Given the description of an element on the screen output the (x, y) to click on. 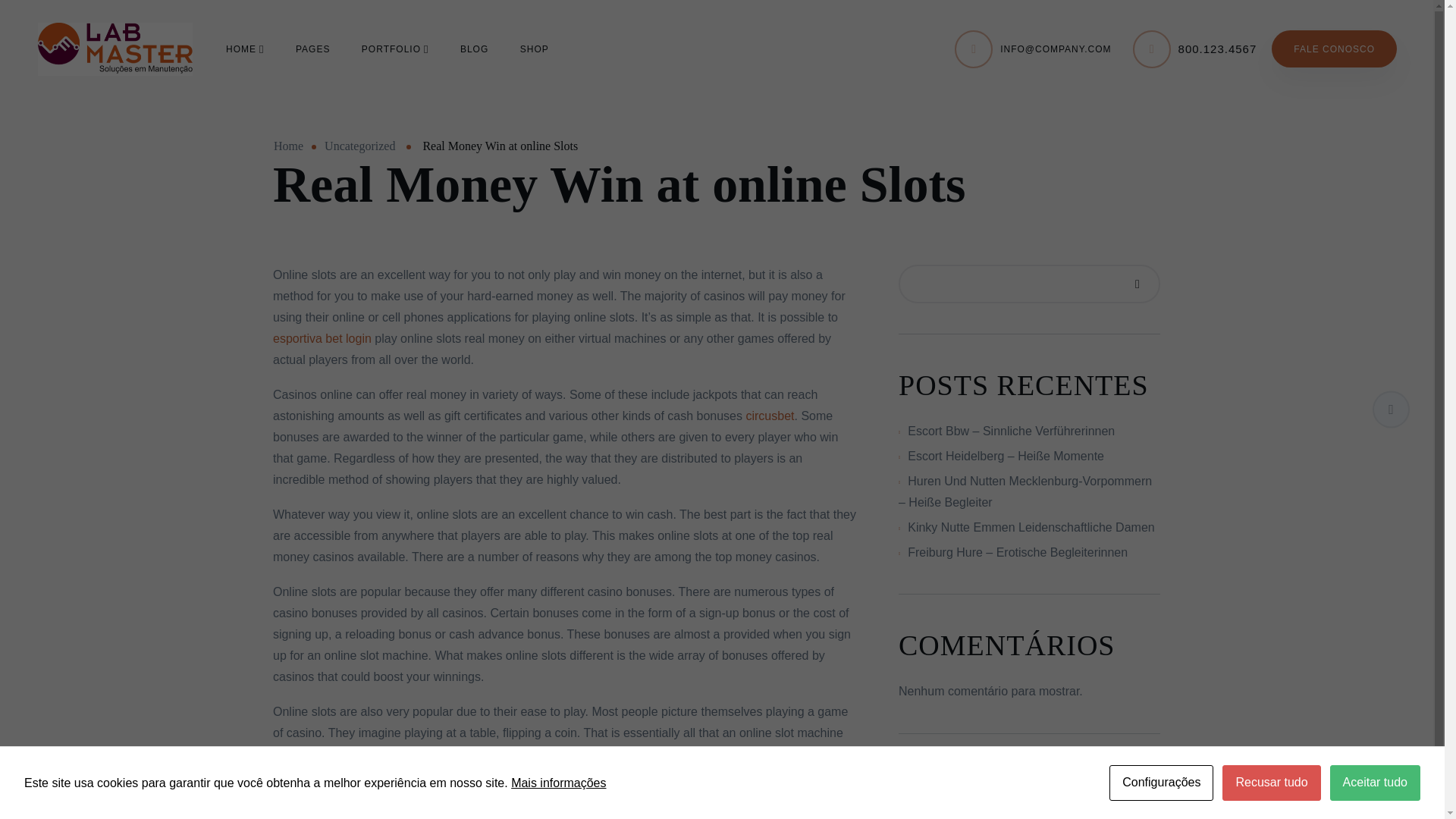
Uncategorized (359, 145)
lab (114, 49)
FALE CONOSCO (1333, 48)
circusbet (769, 415)
esportiva bet login (322, 338)
BLOG (473, 48)
PAGES (312, 48)
Home (288, 145)
800.123.4567 (1217, 48)
SHOP (533, 48)
Kinky Nutte Emmen Leidenschaftliche Damen (1030, 526)
HOME (244, 48)
PORTFOLIO (395, 48)
